Given the description of an element on the screen output the (x, y) to click on. 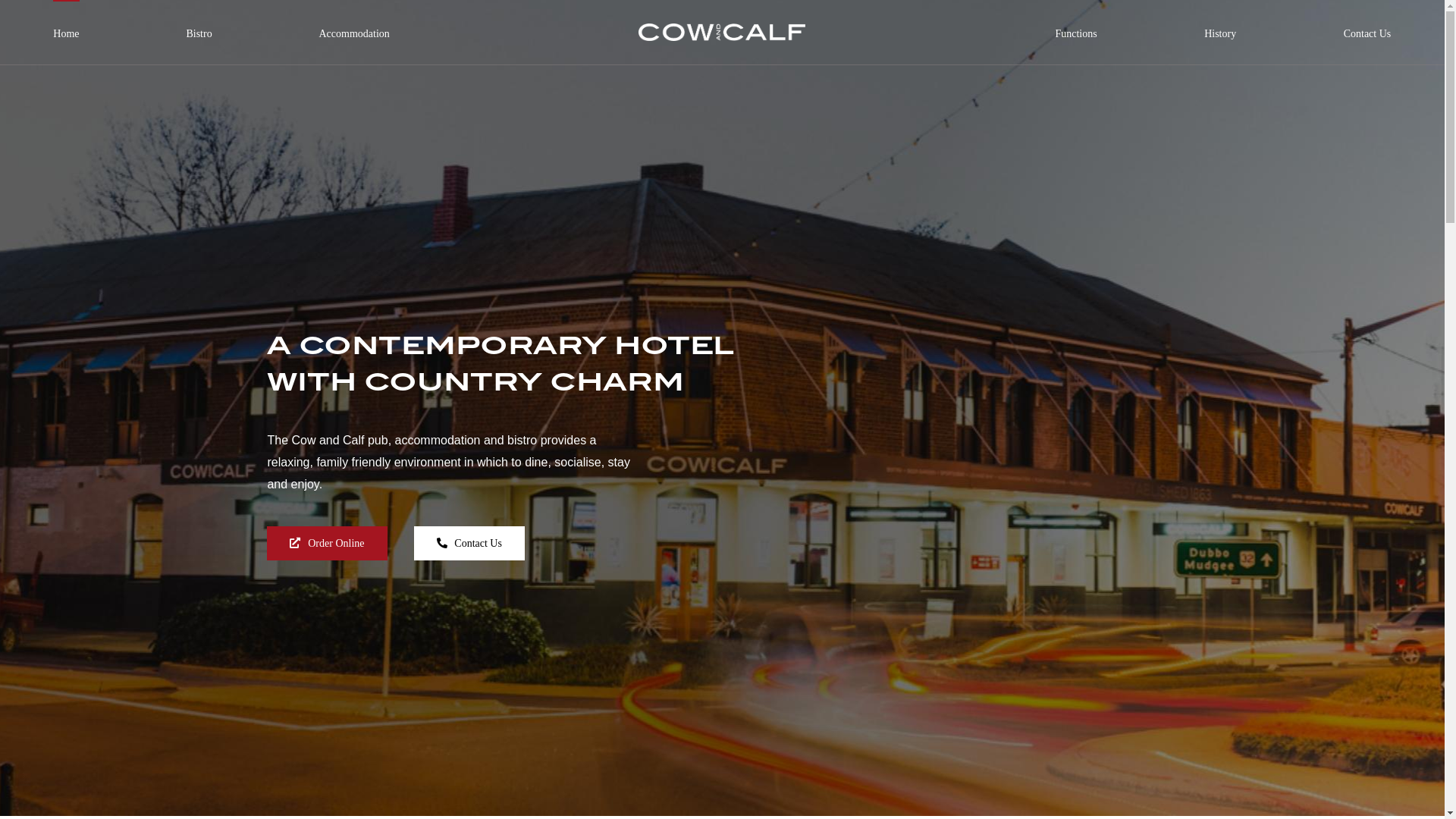
Accommodation Element type: text (353, 21)
Home Element type: text (65, 21)
Functions Element type: text (1075, 21)
History Element type: text (1220, 21)
Bistro Element type: text (198, 21)
Contact Us Element type: text (469, 543)
Order Online Element type: text (326, 543)
Contact Us Element type: text (1367, 21)
